Given the description of an element on the screen output the (x, y) to click on. 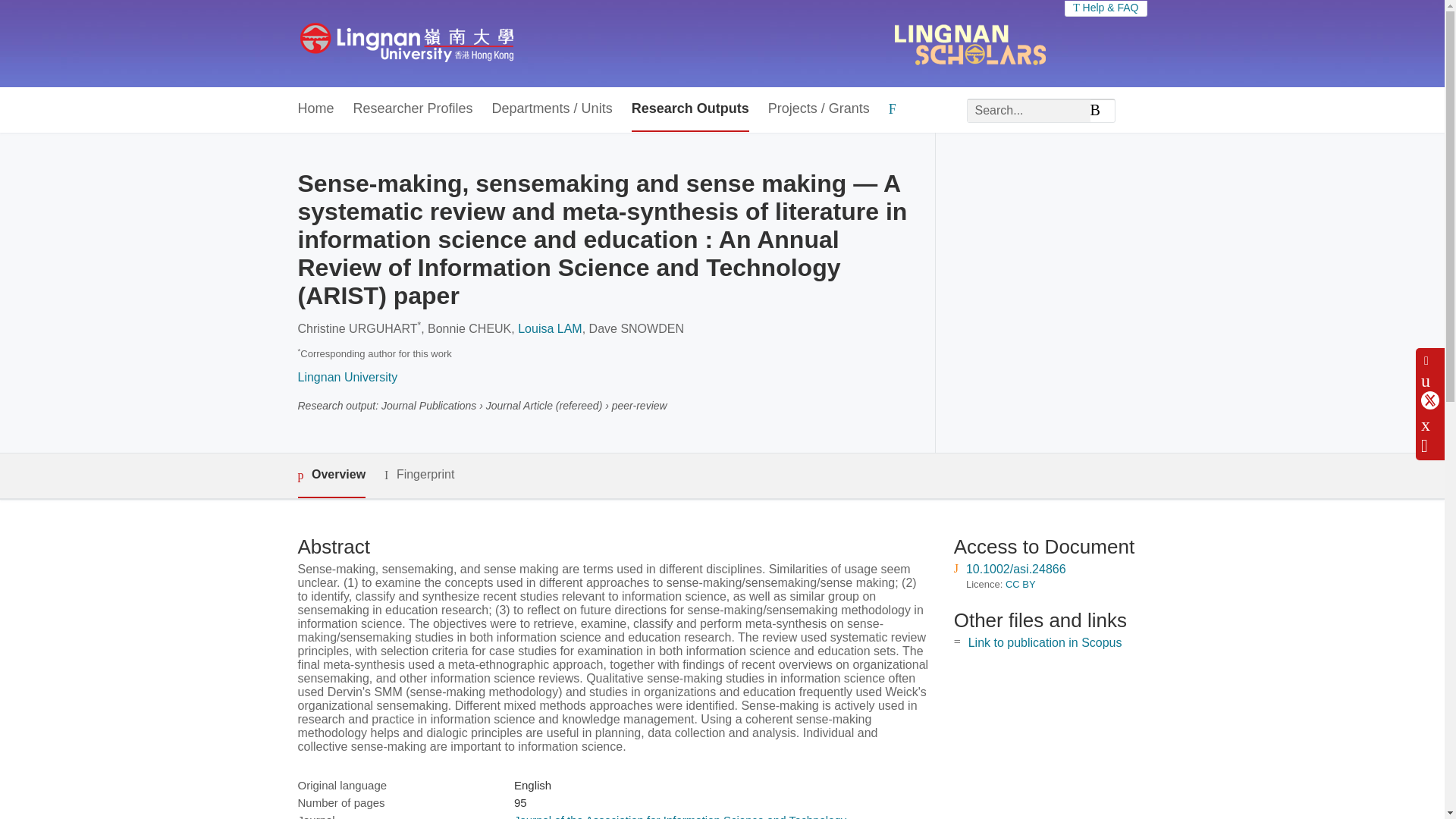
Research Outputs (690, 108)
Fingerprint (419, 474)
Researcher Profiles (413, 108)
Louisa LAM (550, 328)
Link to publication in Scopus (1045, 642)
Lingnan University (347, 377)
Lingnan Scholars Home (406, 43)
Overview (331, 475)
CC BY (1020, 583)
